Given the description of an element on the screen output the (x, y) to click on. 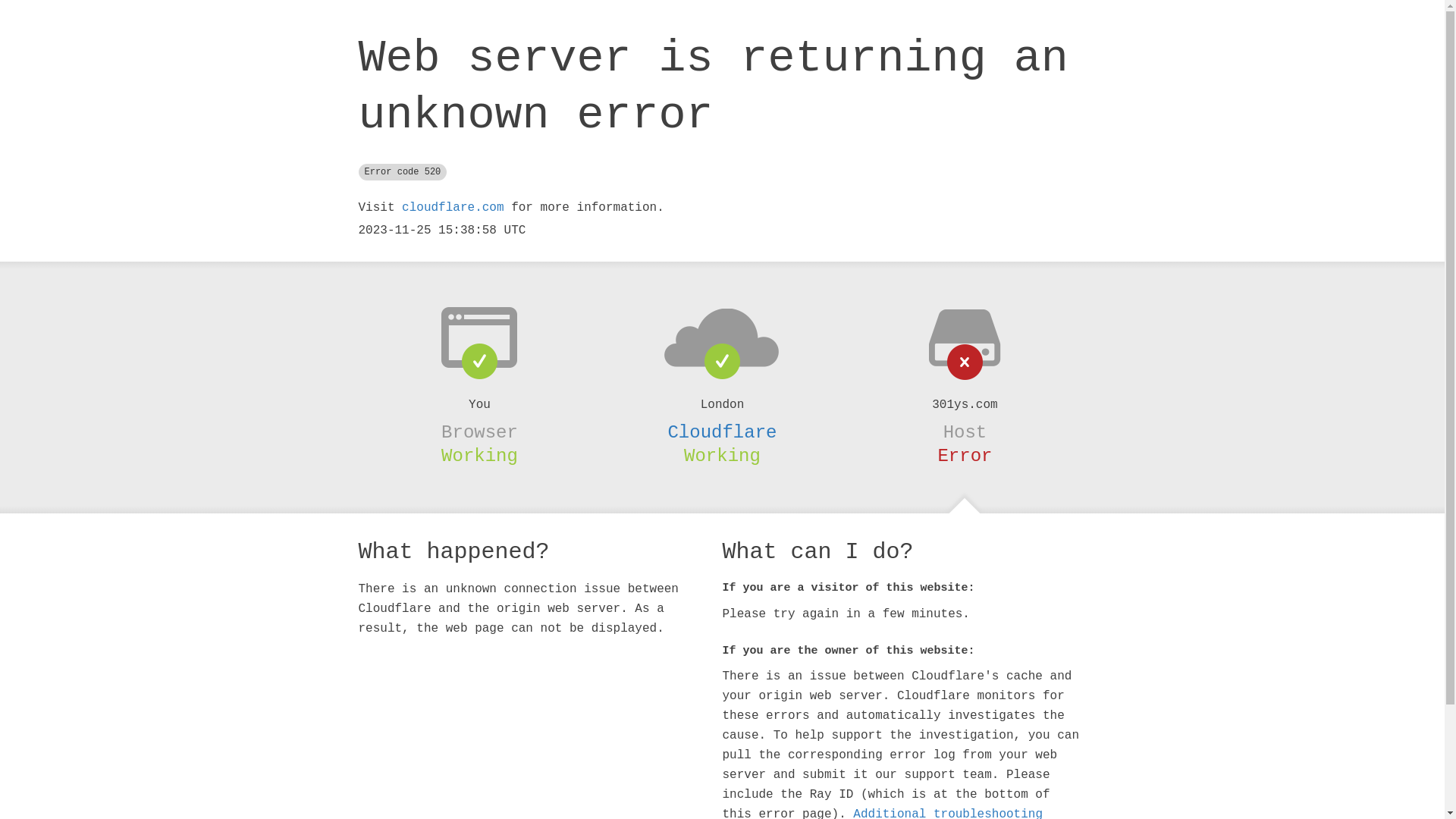
cloudflare.com Element type: text (452, 207)
Cloudflare Element type: text (721, 432)
